Given the description of an element on the screen output the (x, y) to click on. 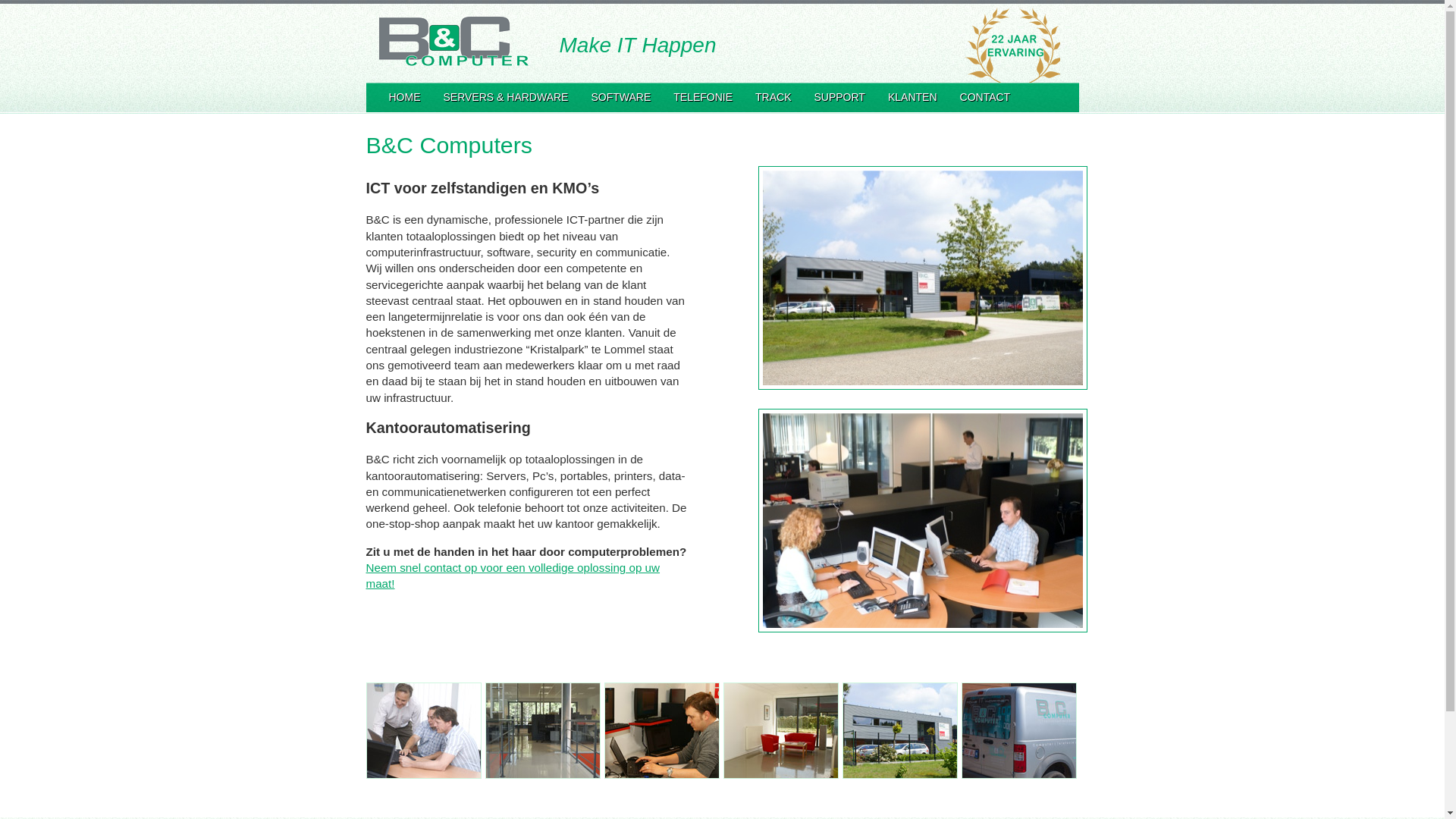
SUPPORT Element type: text (838, 97)
SERVERS & HARDWARE Element type: text (506, 97)
HOME Element type: text (404, 97)
TELEFONIE Element type: text (702, 97)
KLANTEN Element type: text (912, 97)
SOFTWARE Element type: text (620, 97)
CONTACT Element type: text (985, 97)
TRACK Element type: text (772, 97)
